Given the description of an element on the screen output the (x, y) to click on. 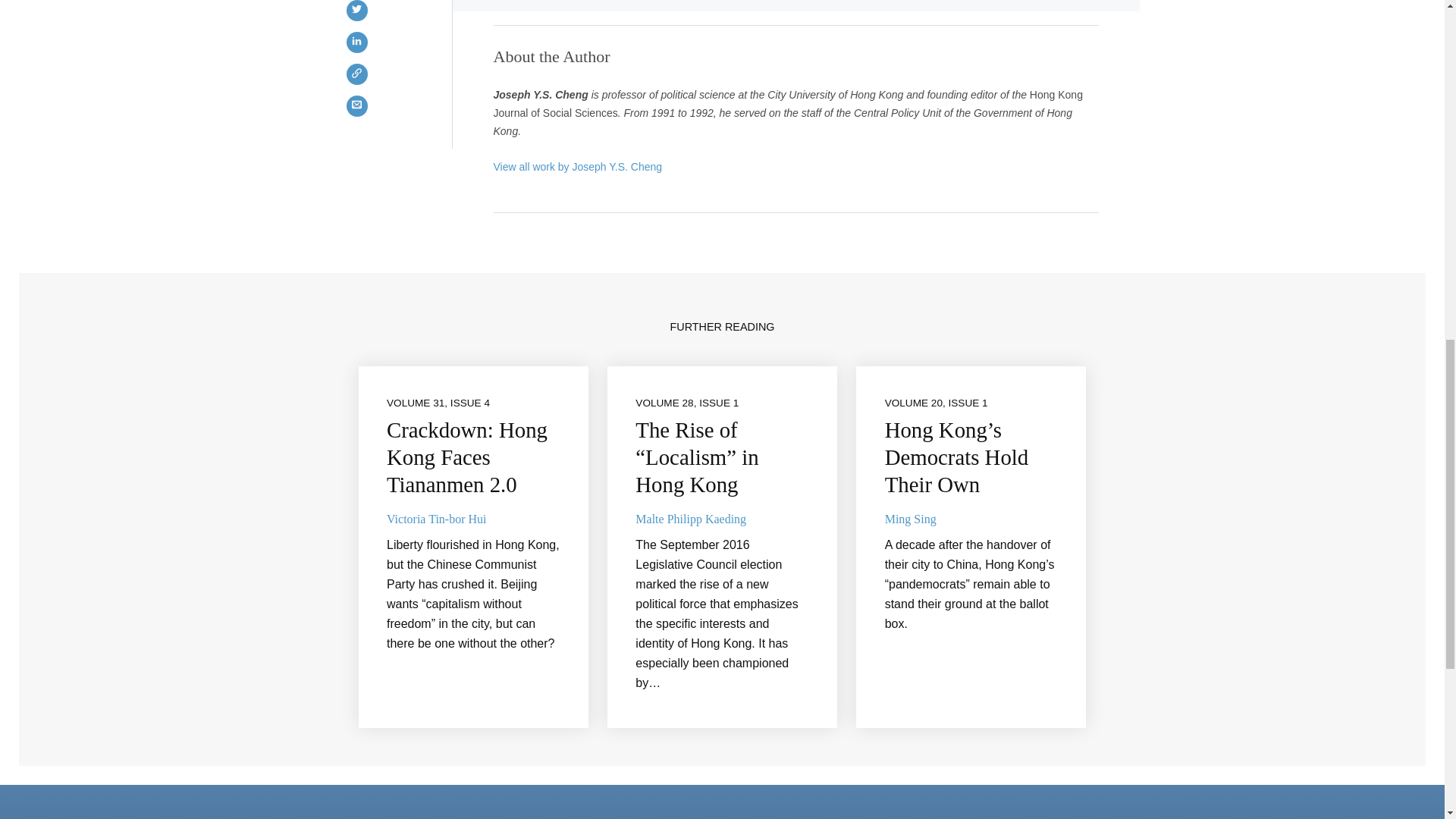
View all work by Joseph Y.S. Cheng (577, 166)
